Given the description of an element on the screen output the (x, y) to click on. 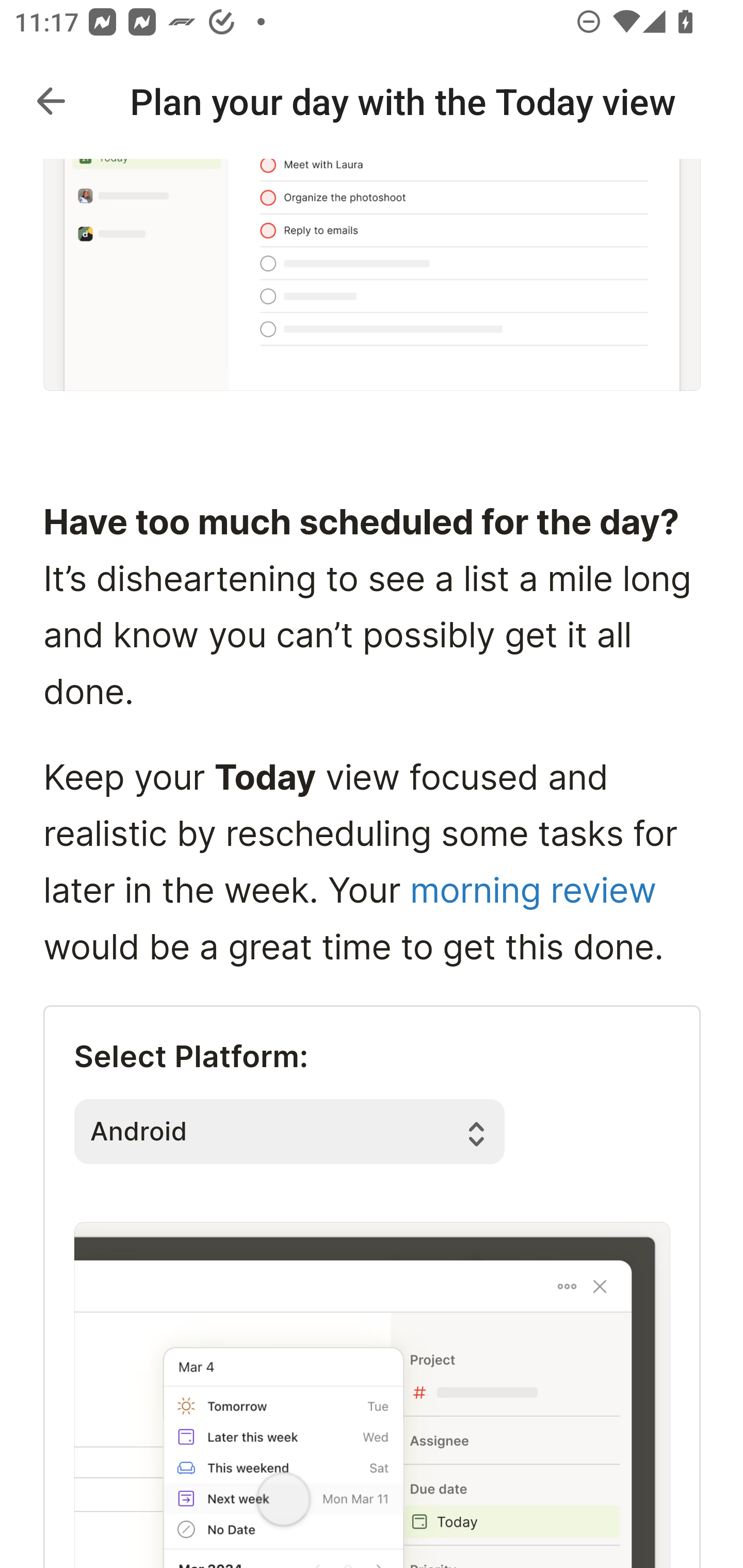
Navigate up (50, 101)
priorities-web.png (372, 275)
morning review (532, 892)
Android (289, 1131)
clearup-day-web.png (371, 1393)
